Given the description of an element on the screen output the (x, y) to click on. 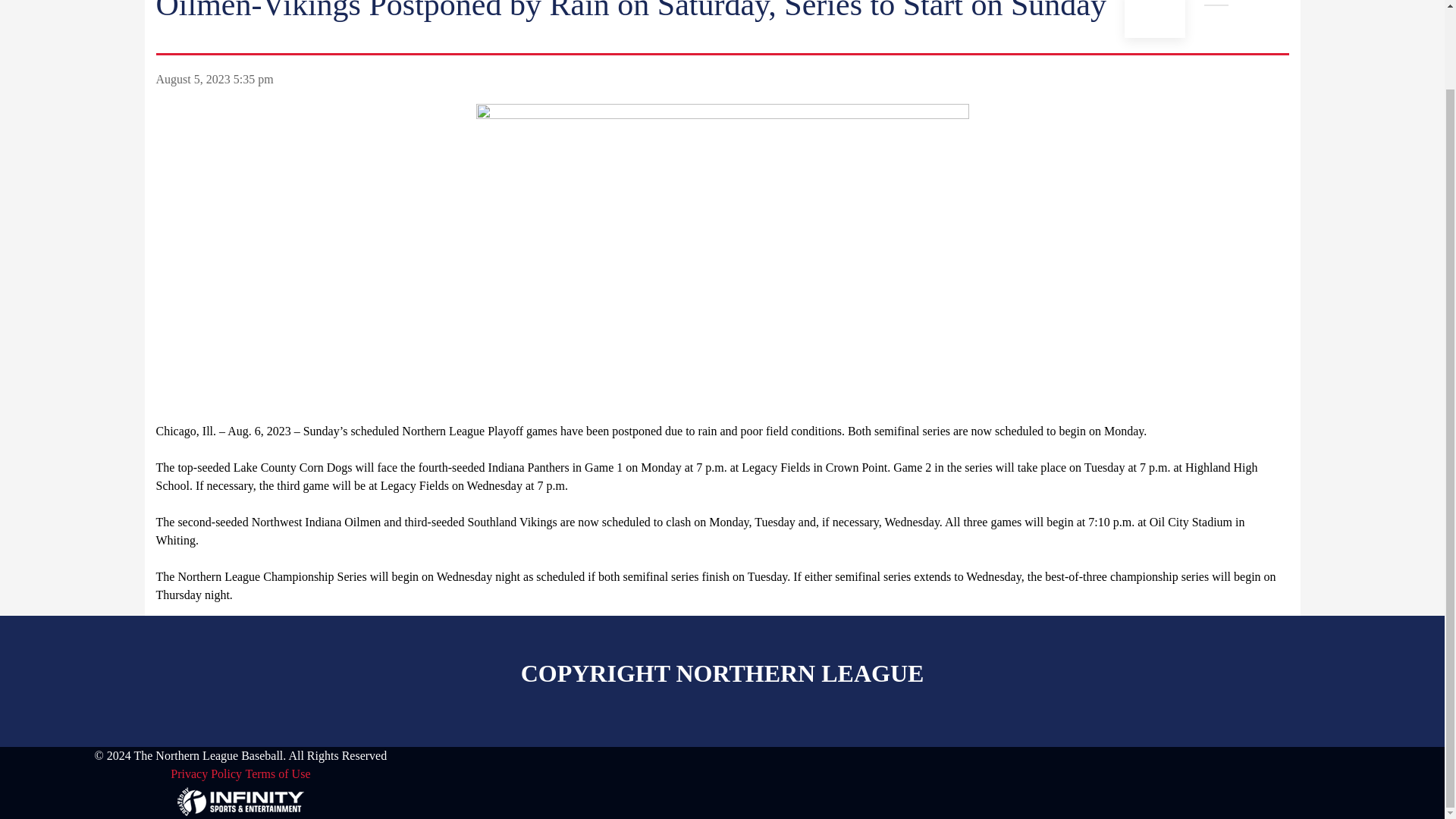
Terms of Use (278, 773)
Privacy Policy (205, 773)
